Given the description of an element on the screen output the (x, y) to click on. 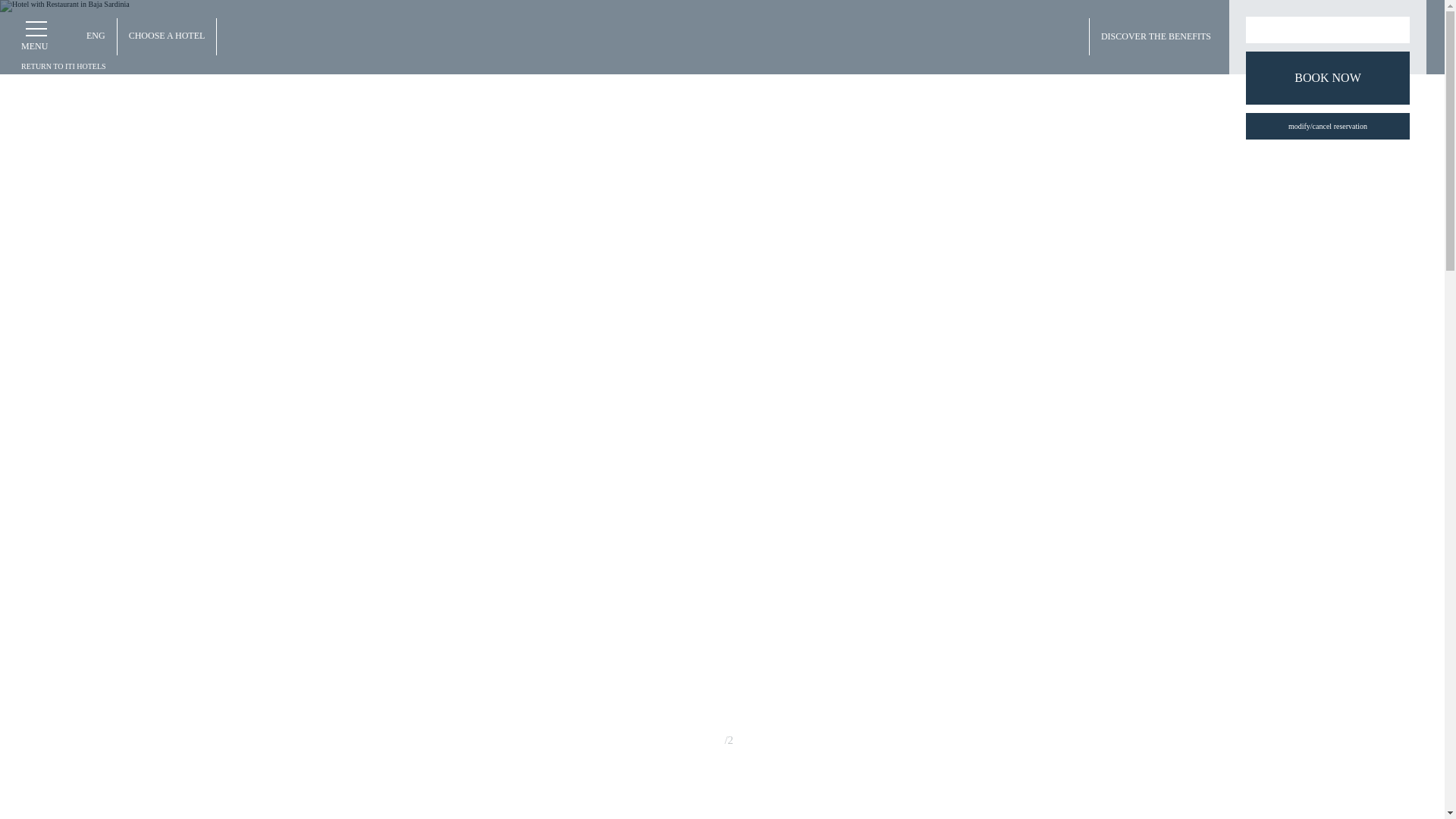
RETURN TO ITI HOTELS (63, 65)
